Given the description of an element on the screen output the (x, y) to click on. 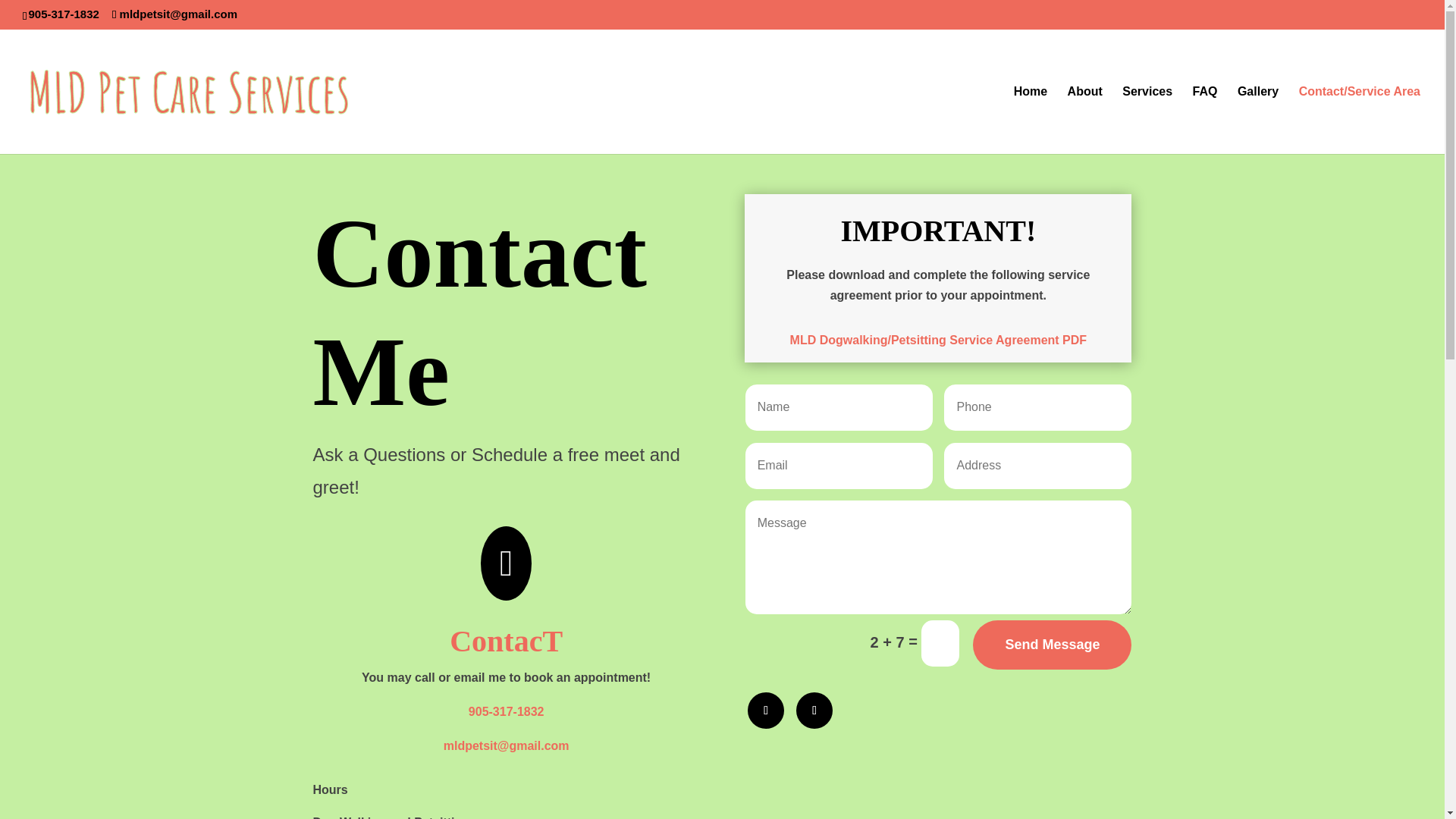
Follow on Facebook (766, 710)
Follow on Instagram (814, 710)
Send Message (1051, 644)
905-317-1832 (506, 711)
